Given the description of an element on the screen output the (x, y) to click on. 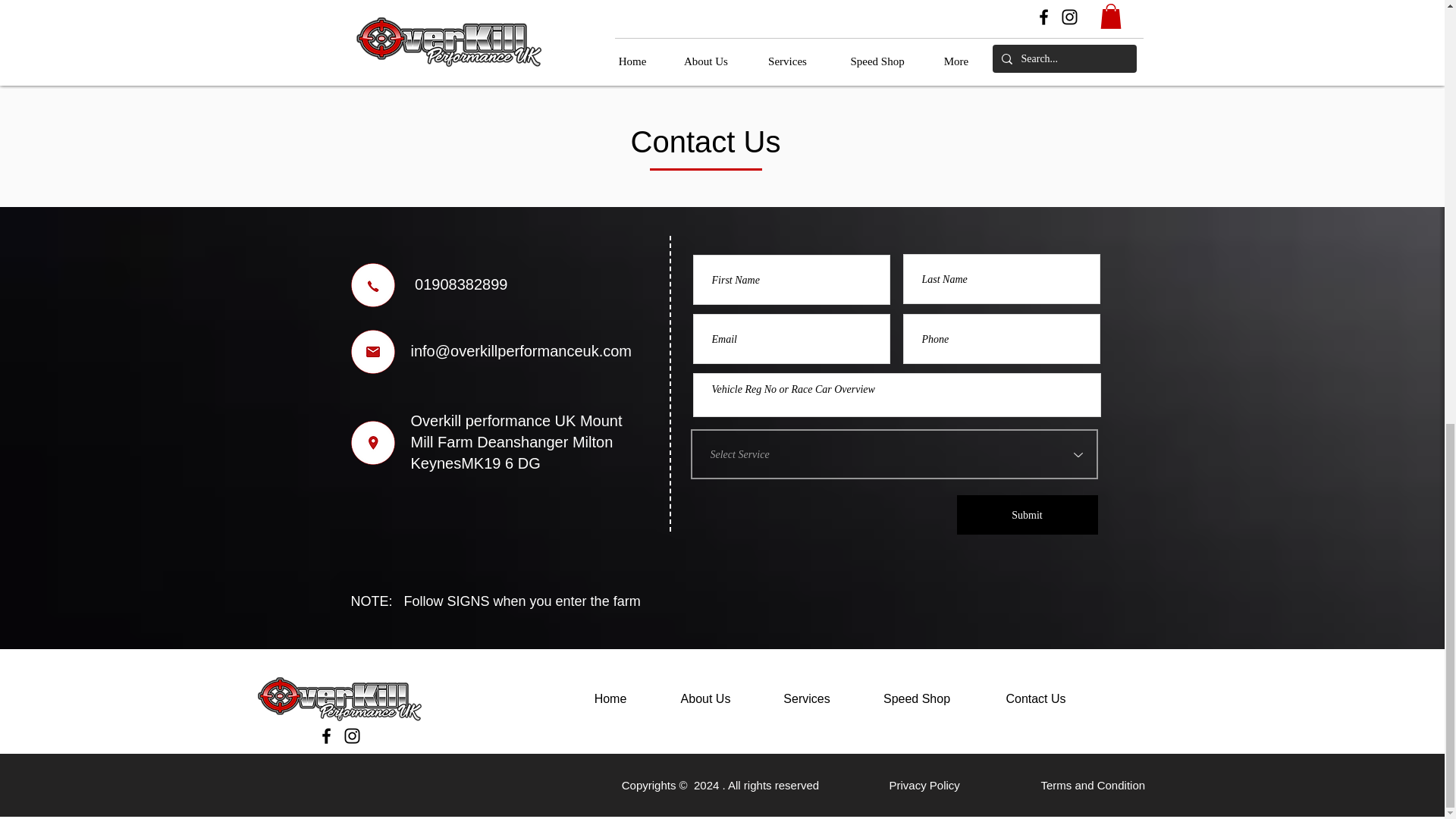
Services (807, 699)
Home (609, 699)
Submit (1026, 514)
About Us (705, 699)
